Given the description of an element on the screen output the (x, y) to click on. 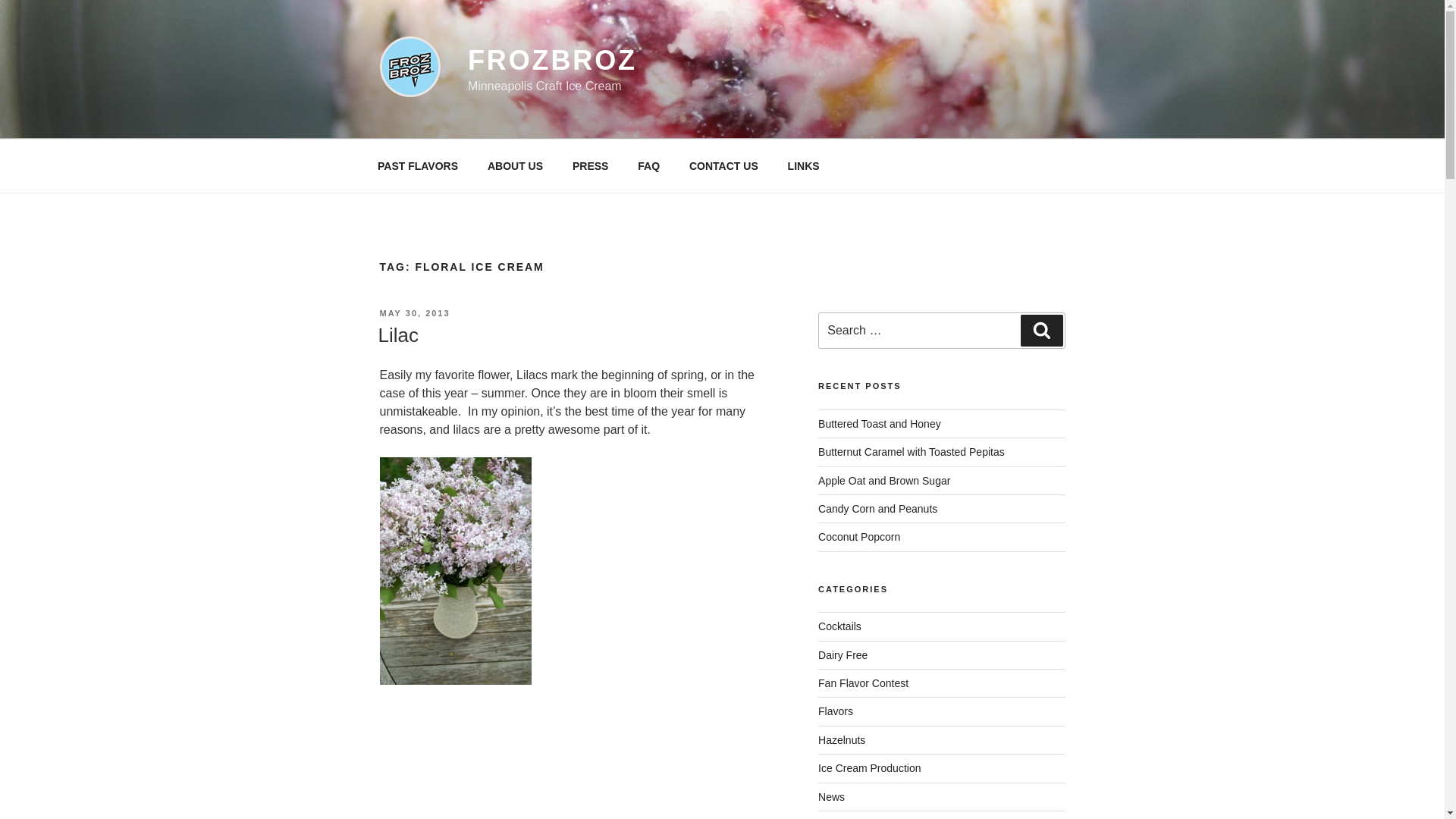
Candy Corn and Peanuts (877, 508)
PRESS (590, 165)
Fan Flavor Contest (863, 683)
Ice Cream Production (869, 767)
Search (1041, 330)
PAST FLAVORS (417, 165)
Cocktails (839, 625)
CONTACT US (723, 165)
Buttered Toast and Honey (879, 423)
Lilac (397, 334)
